Given the description of an element on the screen output the (x, y) to click on. 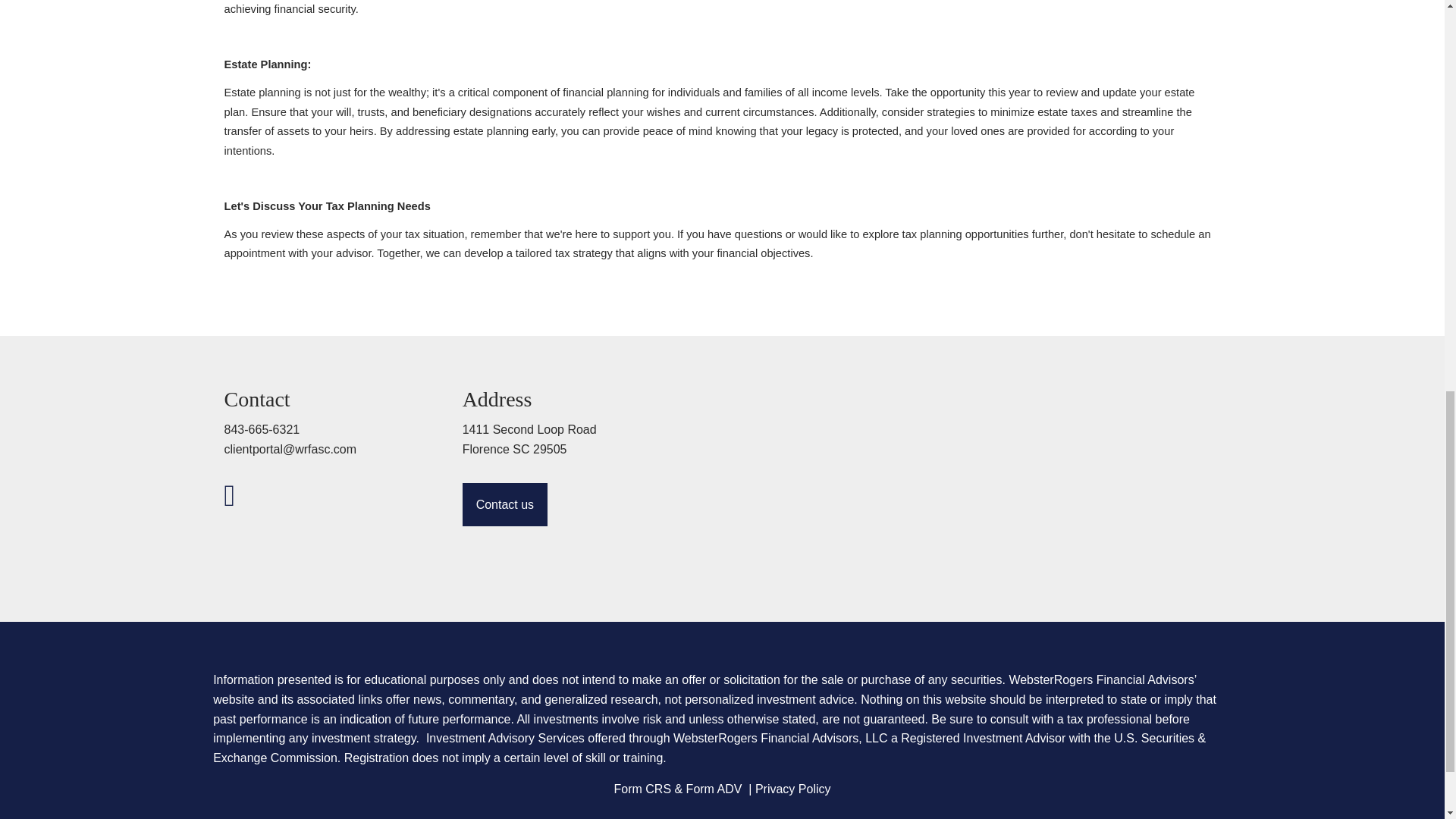
Privacy Policy (793, 790)
Contact us (505, 506)
